Given the description of an element on the screen output the (x, y) to click on. 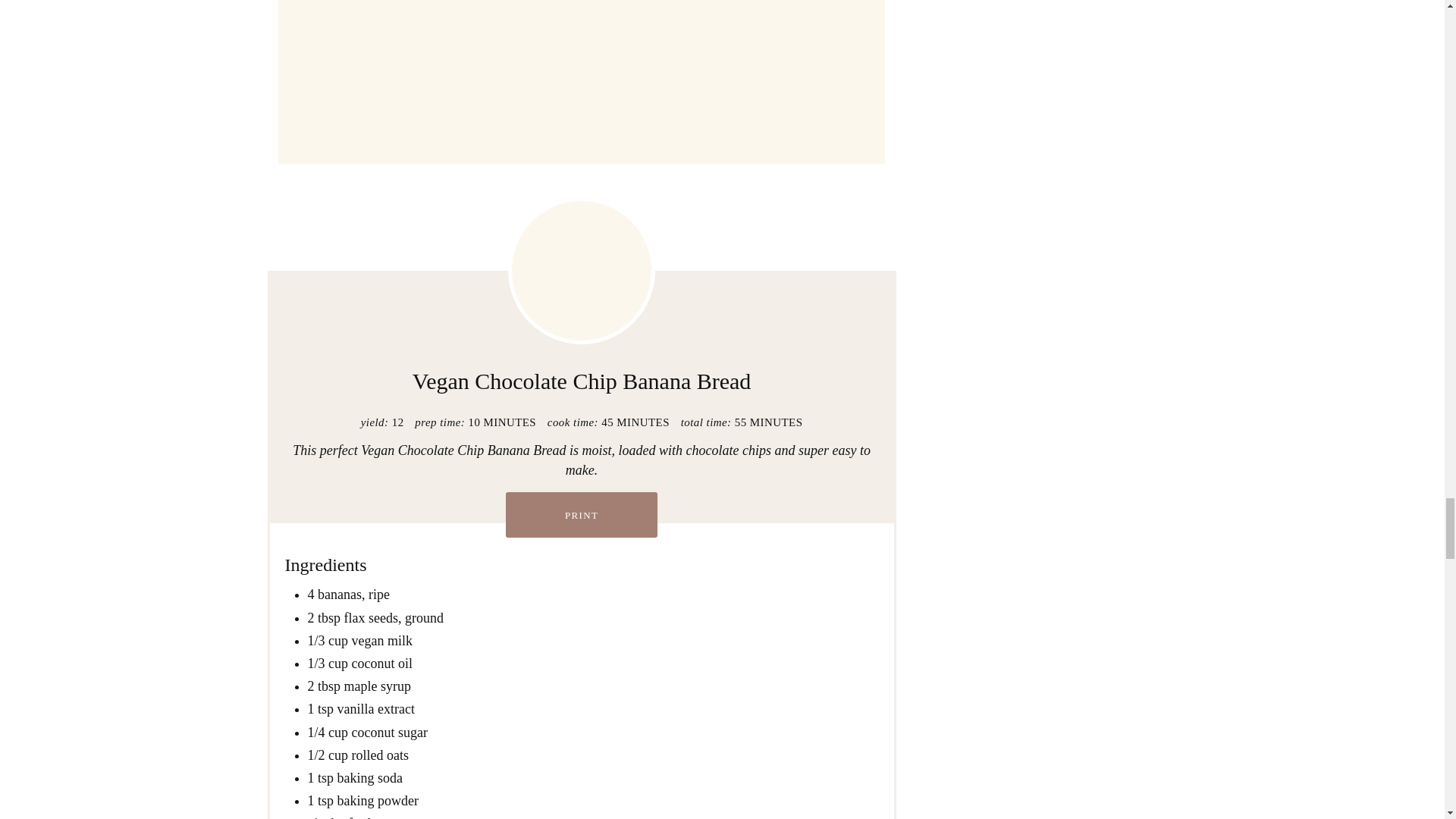
PRINT (581, 514)
